Given the description of an element on the screen output the (x, y) to click on. 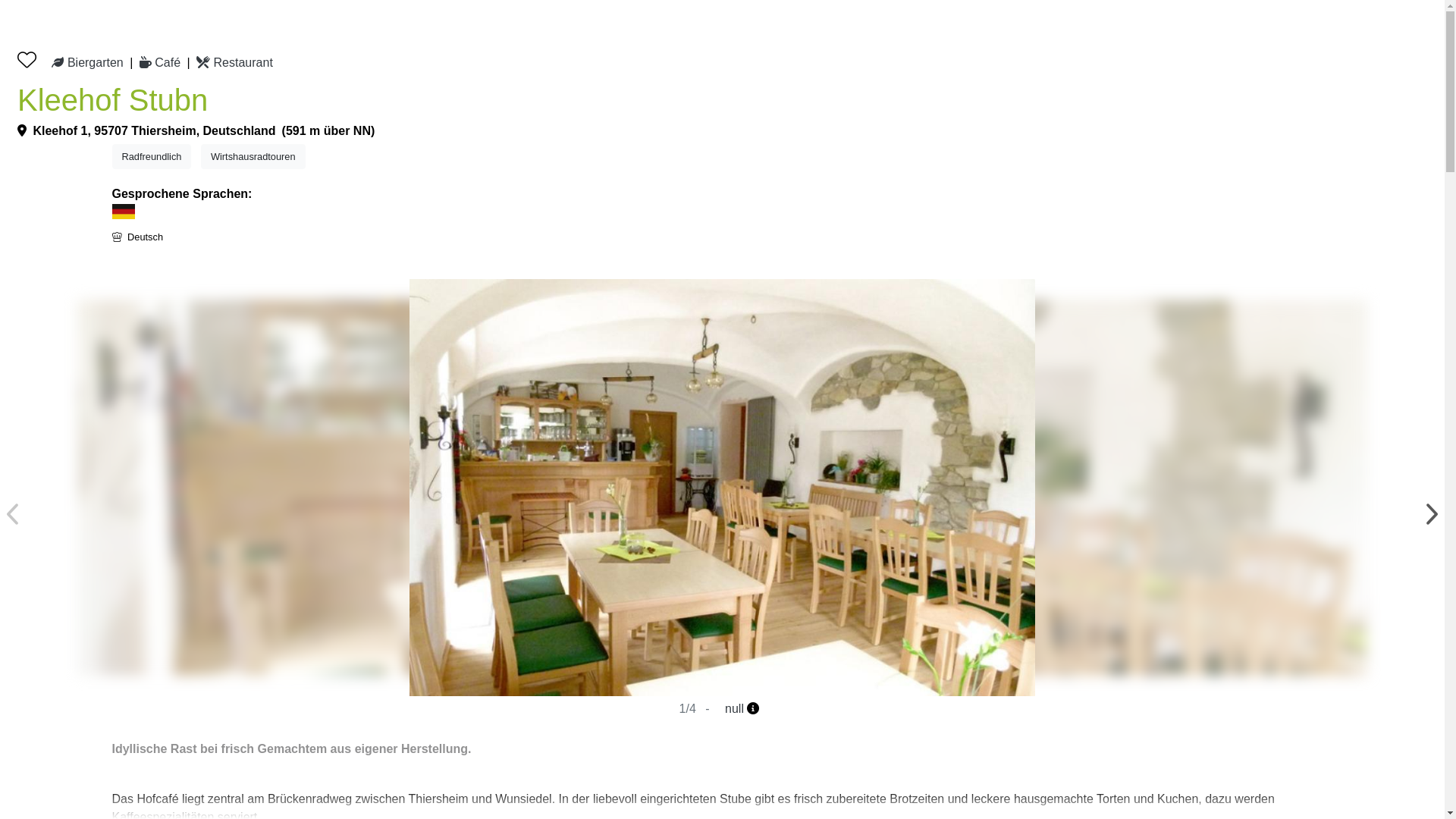
Previous Element type: text (13, 506)
Wirtshausradtouren Element type: text (252, 156)
Merken Element type: hover (32, 59)
Biergarten Element type: text (86, 62)
Radfreundlich Element type: text (151, 156)
Restaurant Element type: text (234, 62)
1/4 - null Element type: text (722, 497)
Next Element type: text (1430, 506)
null Element type: hover (722, 487)
